Given the description of an element on the screen output the (x, y) to click on. 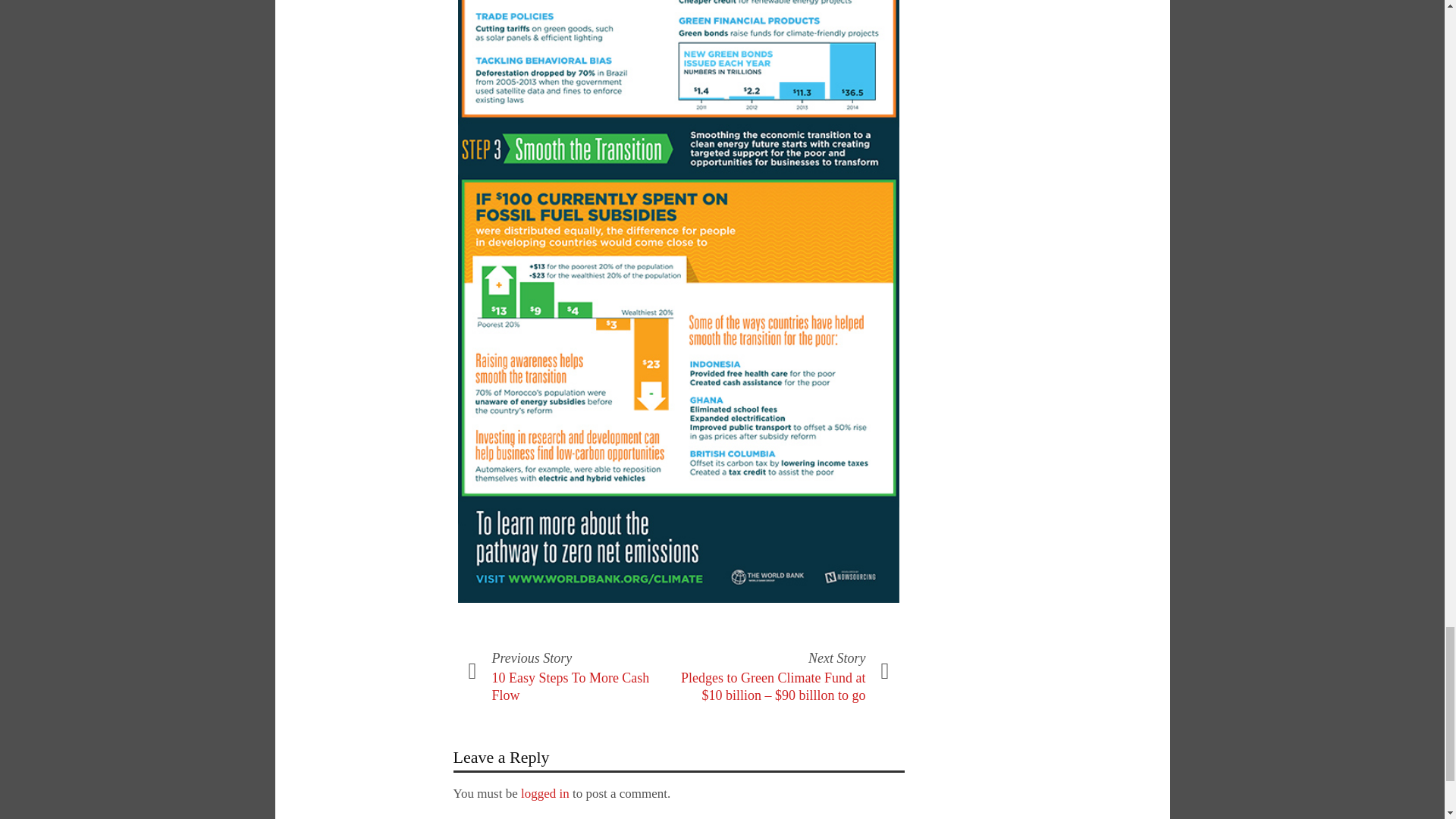
10 Easy Steps To More Cash Flow (570, 686)
logged in (545, 793)
